Given the description of an element on the screen output the (x, y) to click on. 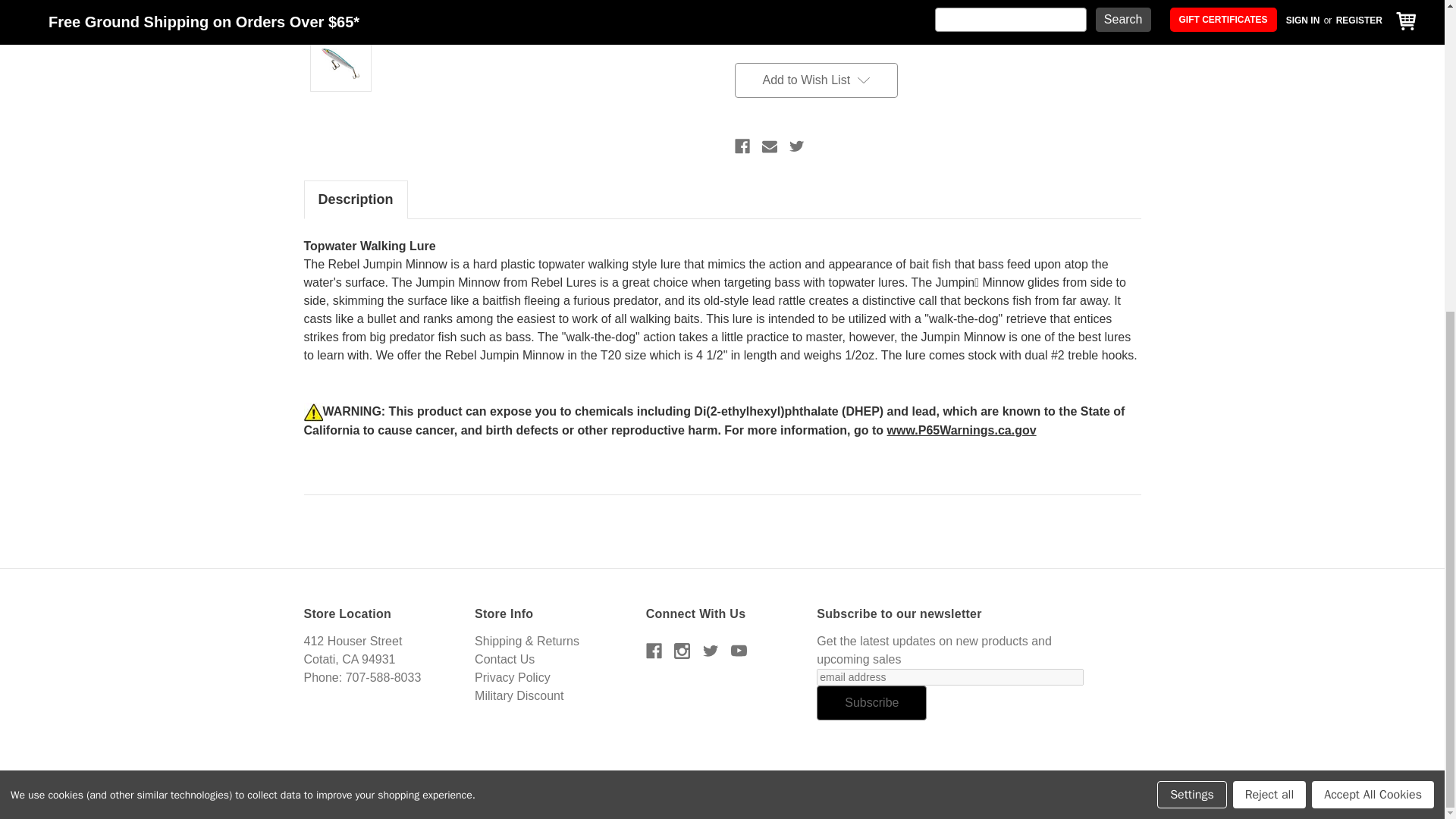
twitter (711, 650)
01 - Silver Black (789, 15)
03 - Silver Blue (828, 15)
facebook (654, 650)
youtube (738, 650)
instagram (682, 650)
